Given the description of an element on the screen output the (x, y) to click on. 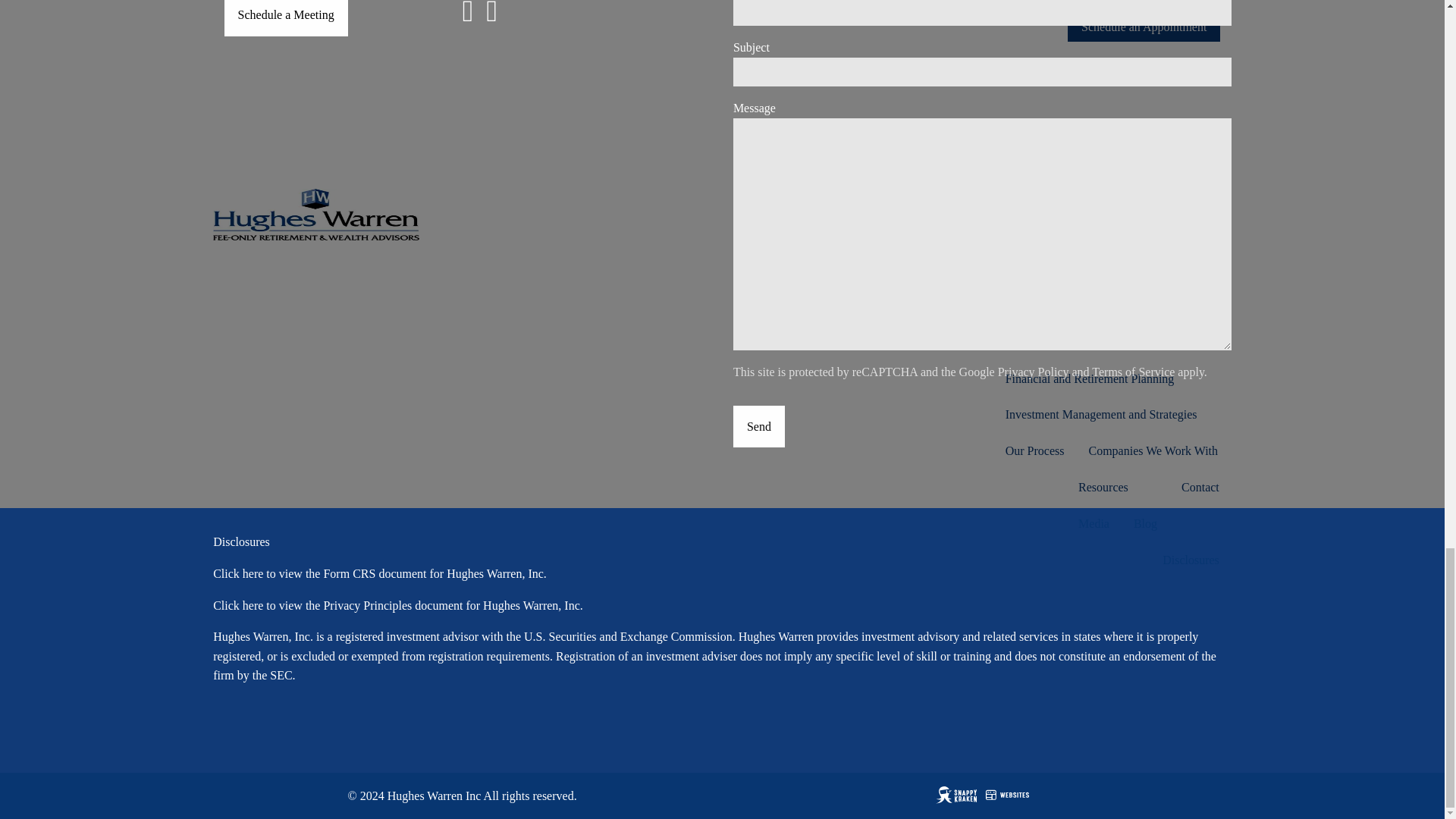
Schedule An Appointment (285, 18)
Send (758, 426)
Disclosures (240, 541)
